Given the description of an element on the screen output the (x, y) to click on. 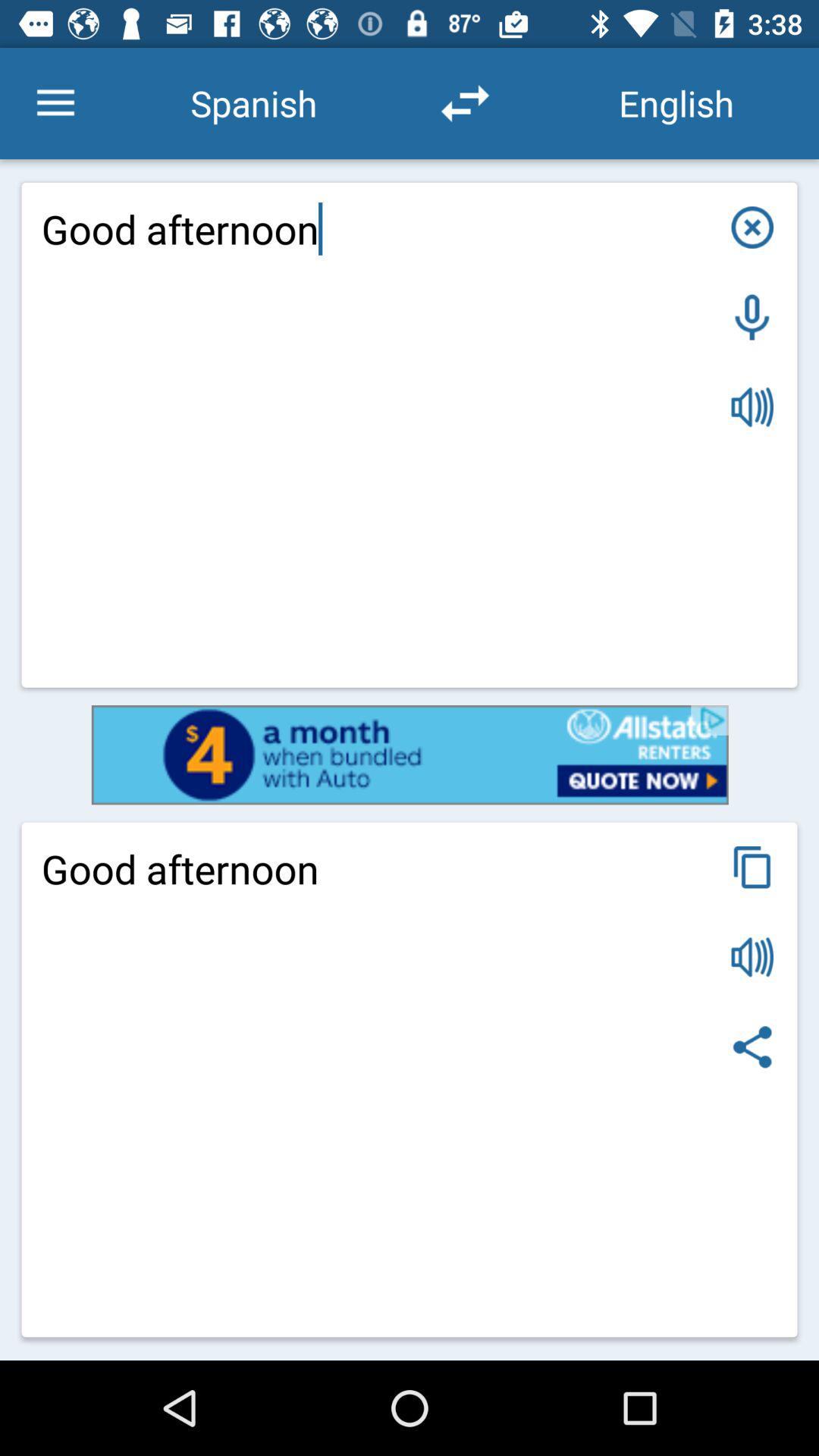
sound option (752, 957)
